Given the description of an element on the screen output the (x, y) to click on. 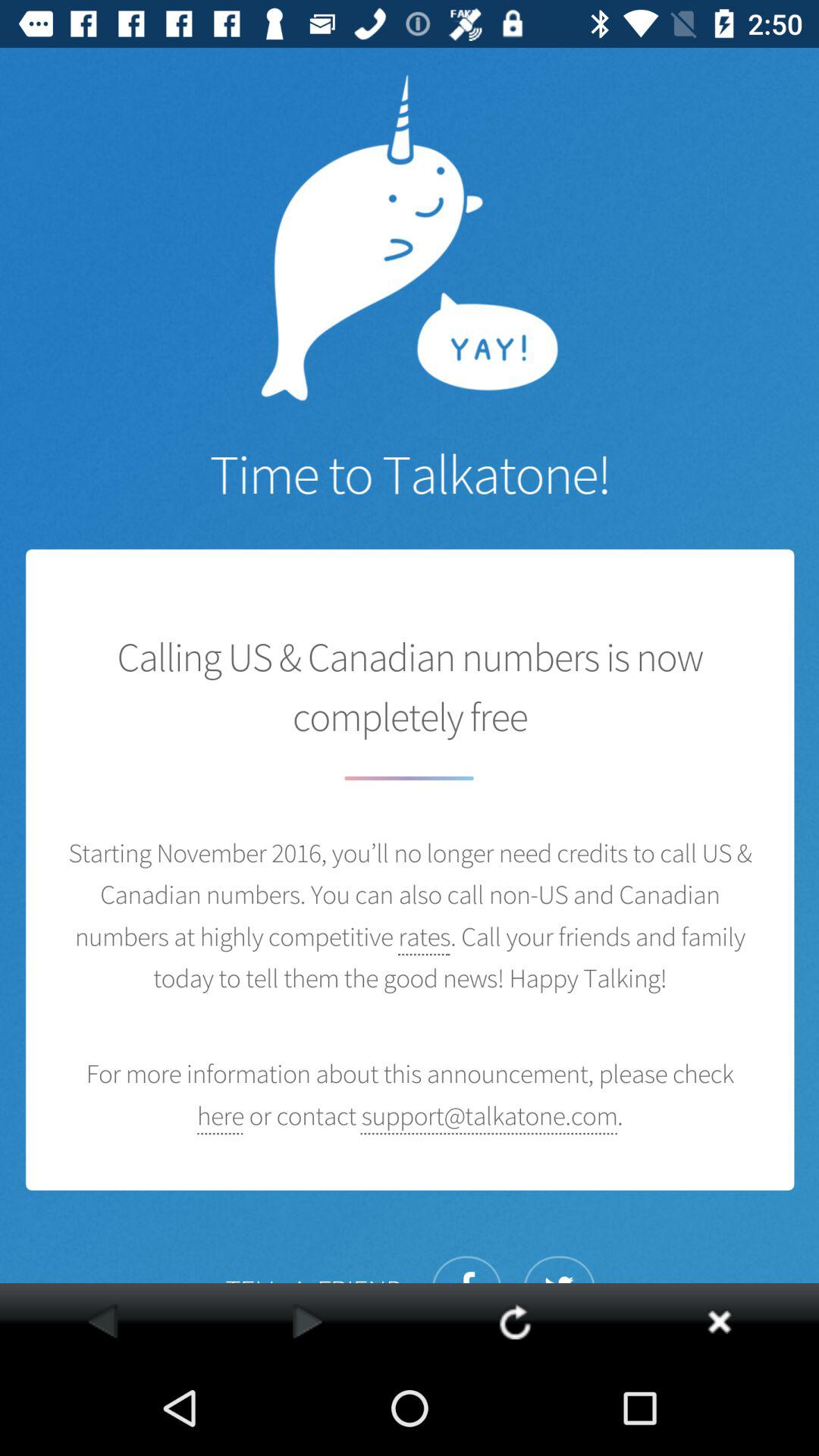
refresh page (514, 1321)
